Given the description of an element on the screen output the (x, y) to click on. 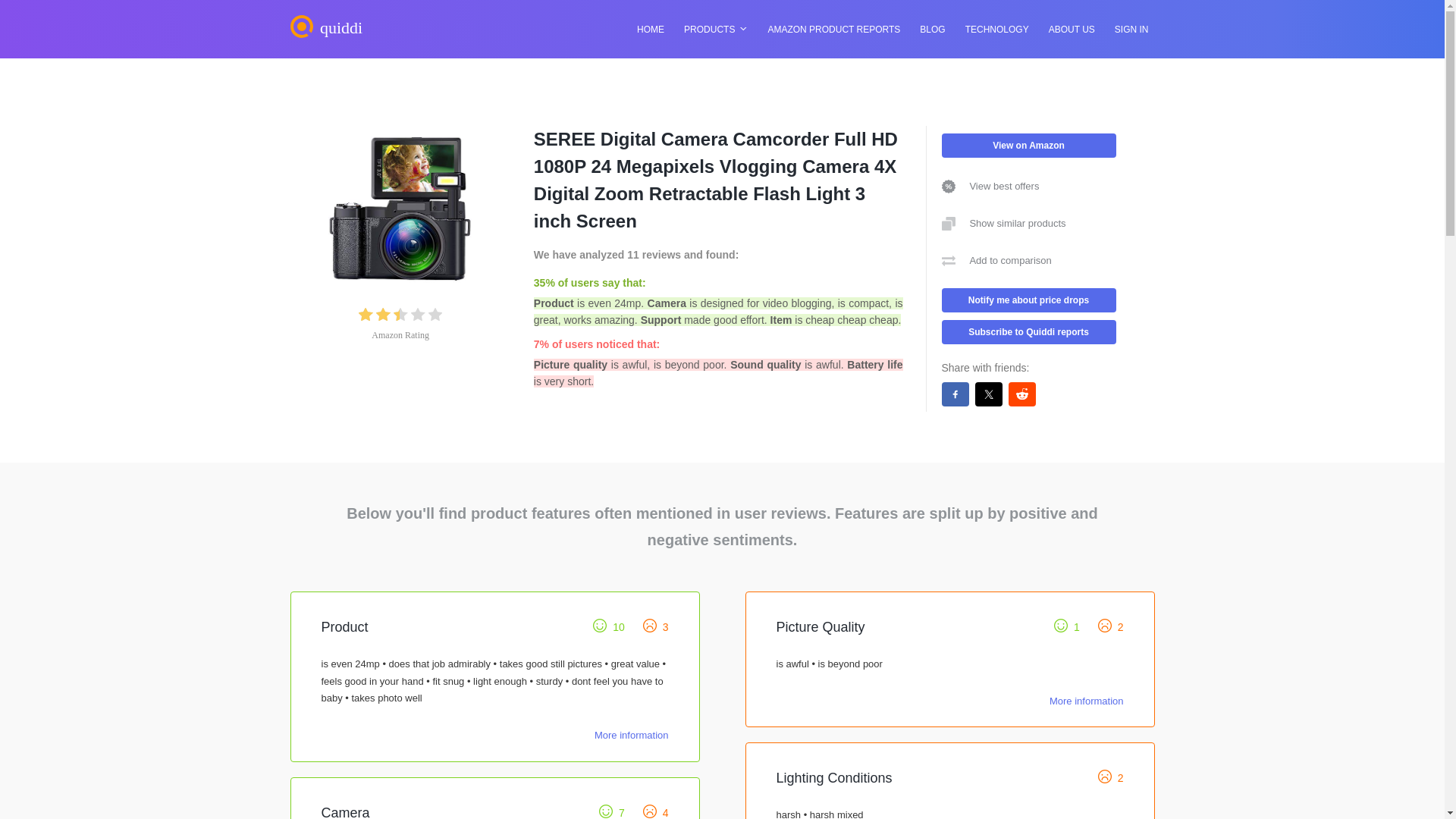
quiddi (330, 33)
quiddi (330, 26)
PRODUCTS (709, 29)
View on Amazon (1029, 145)
BLOG (932, 29)
HOME (649, 29)
TECHNOLOGY (997, 29)
AMAZON PRODUCT REPORTS (833, 29)
ABOUT US (1071, 29)
SIGN IN (1131, 29)
